Given the description of an element on the screen output the (x, y) to click on. 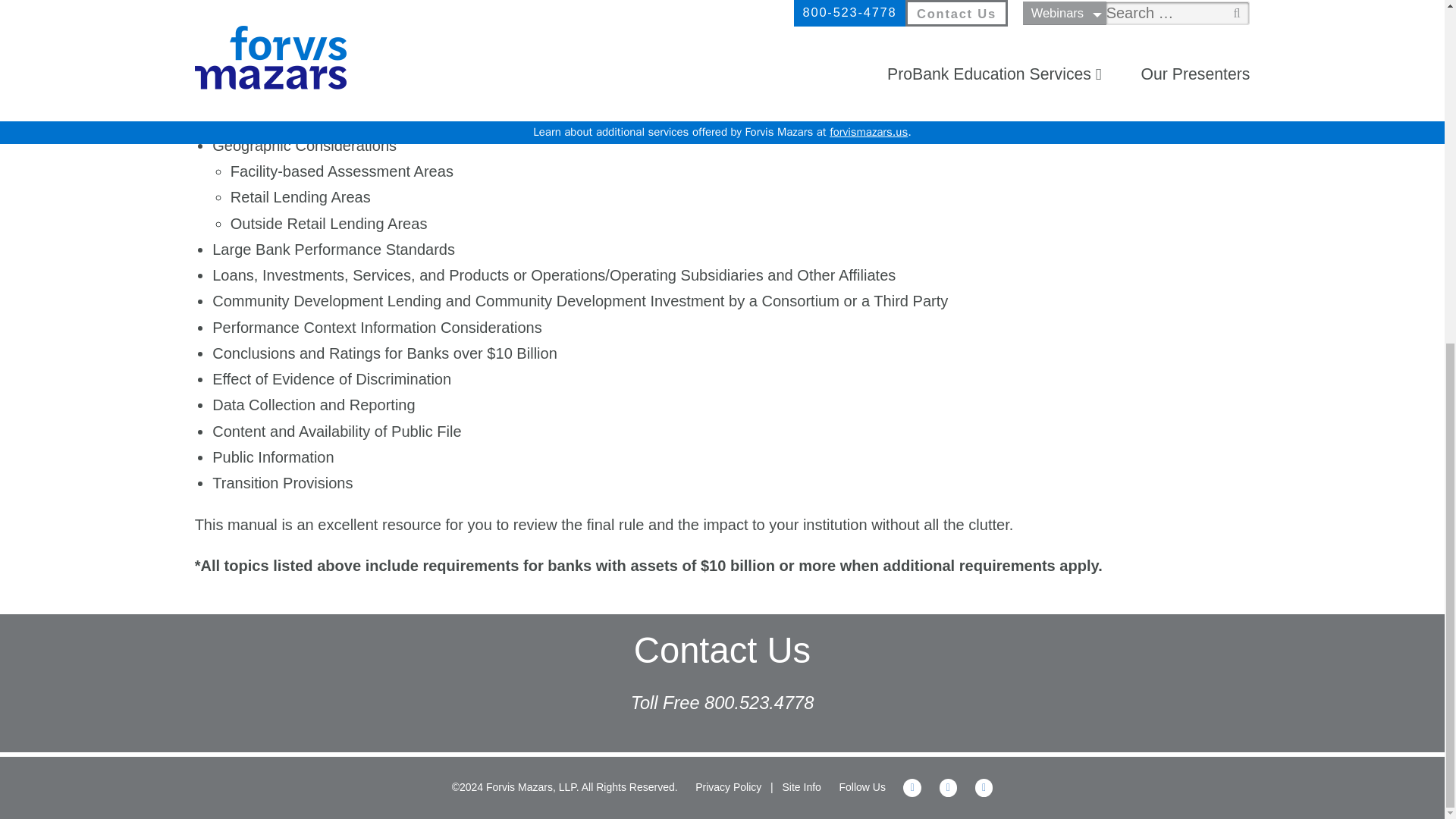
Privacy Policy (728, 787)
Site Info (802, 787)
